Given the description of an element on the screen output the (x, y) to click on. 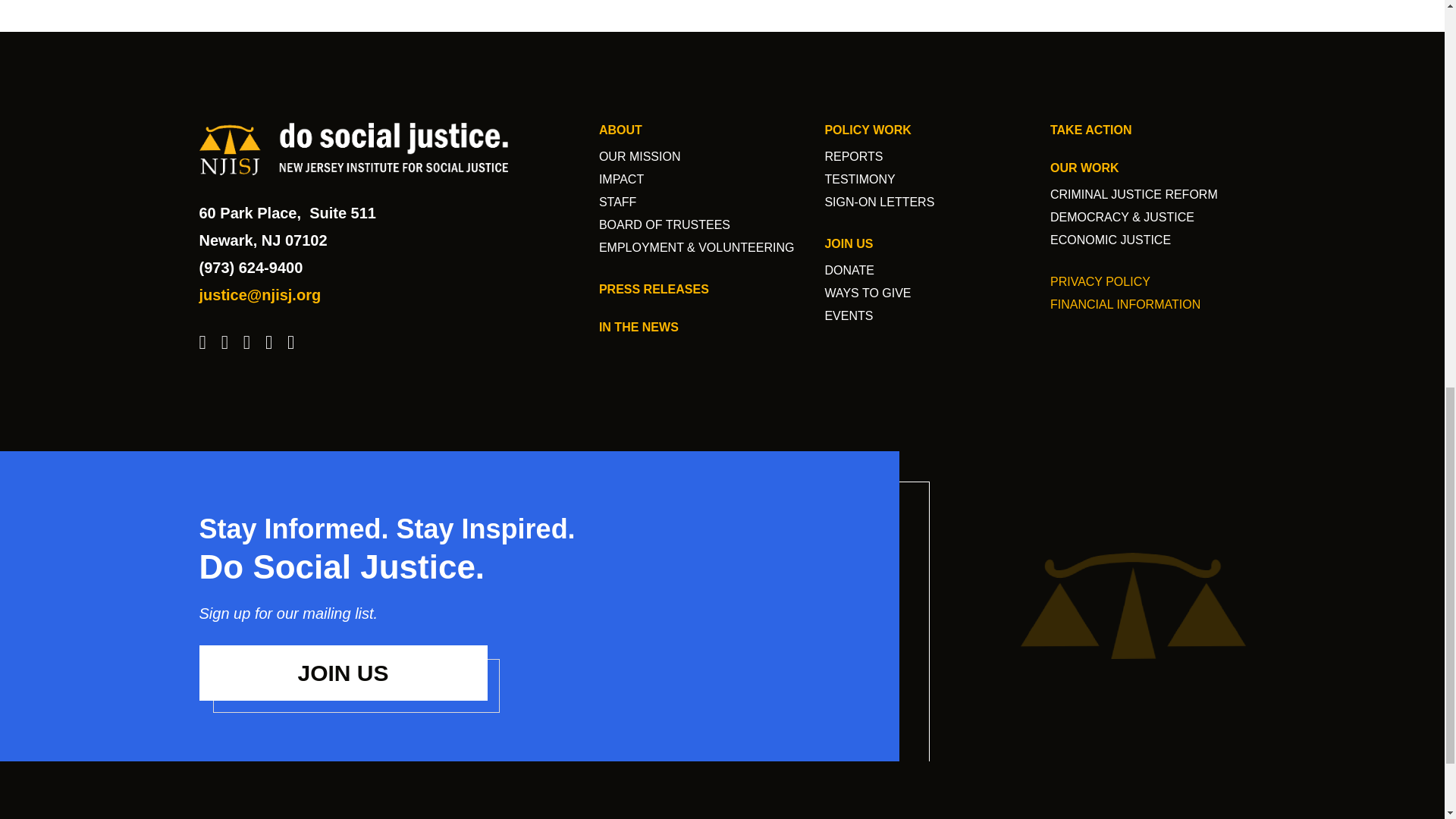
CRIMINAL JUSTICE REFORM (1133, 194)
STAFF (617, 201)
IMPACT (620, 178)
POLICY WORK (867, 129)
EVENTS (848, 315)
JOIN US (342, 673)
IN THE NEWS (638, 327)
BOARD OF TRUSTEES (664, 224)
OUR WORK (1084, 167)
ABOUT (620, 129)
PRIVACY POLICY (1099, 281)
WAYS TO GIVE (867, 292)
REPORTS (853, 155)
DONATE (848, 269)
OUR MISSION (639, 155)
